Given the description of an element on the screen output the (x, y) to click on. 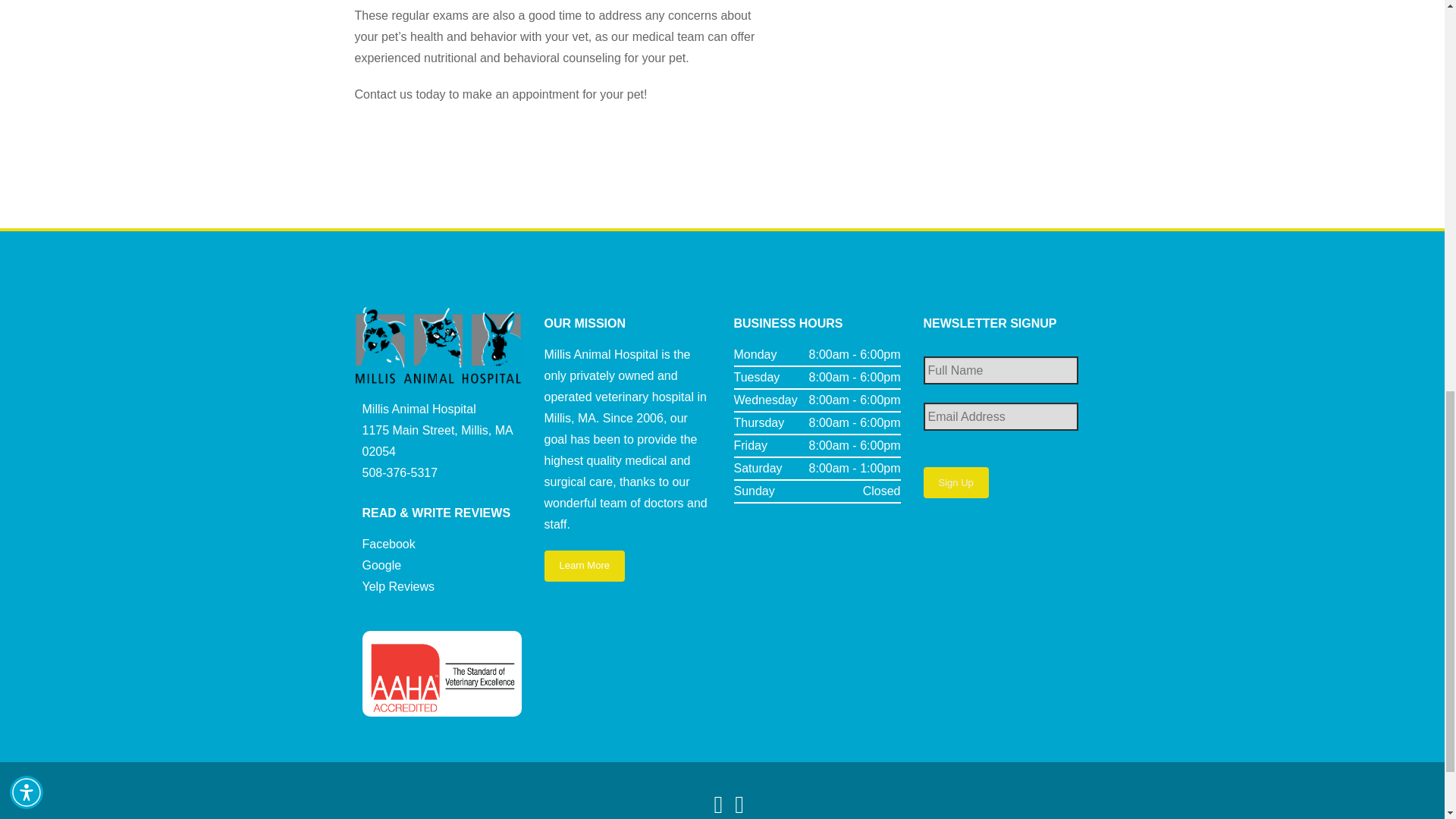
Sign Up (955, 481)
